Given the description of an element on the screen output the (x, y) to click on. 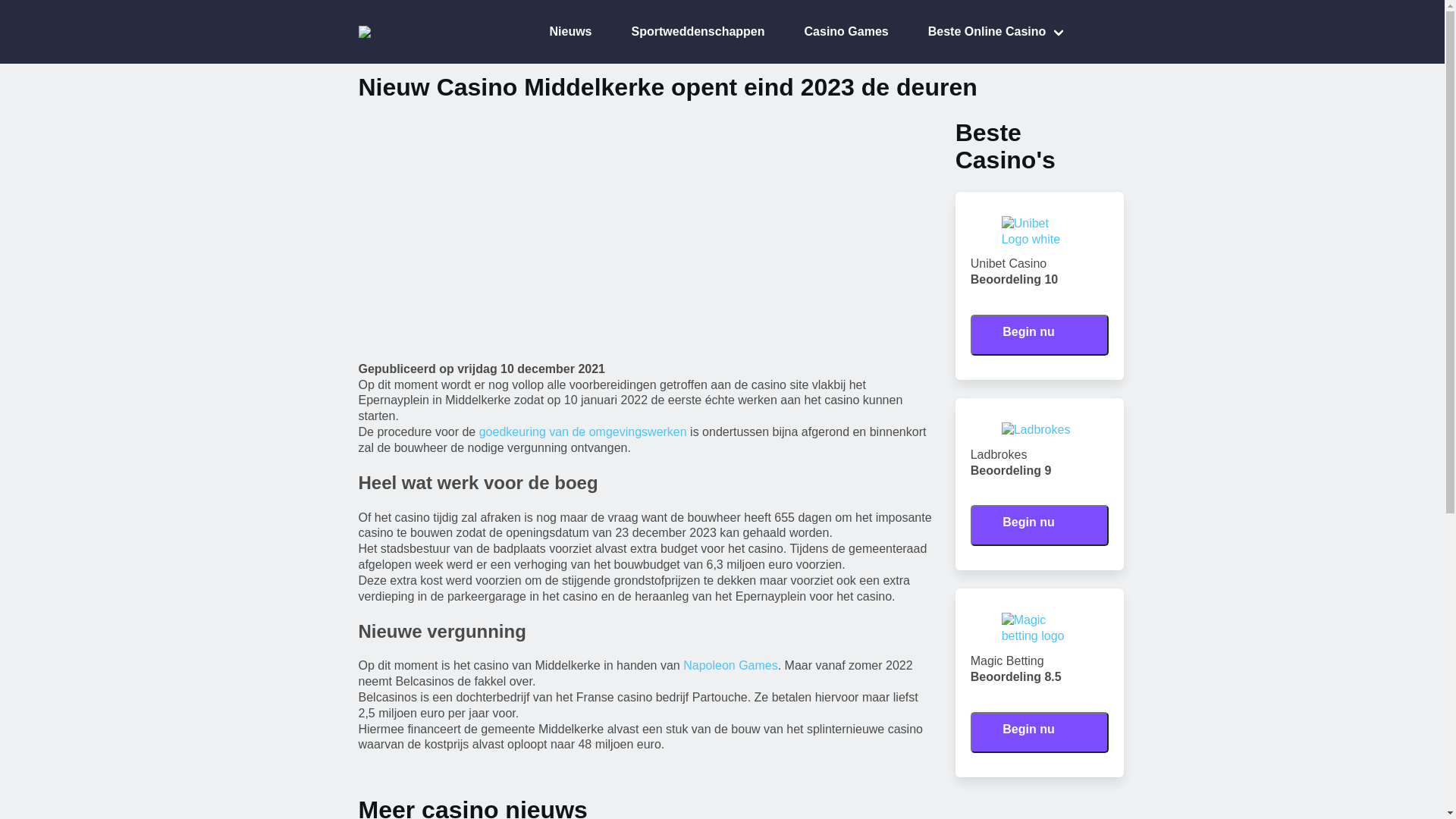
Begin nu Element type: text (1039, 732)
Begin nu Element type: text (1039, 331)
Begin nu Element type: text (1039, 334)
Nieuws Element type: text (559, 31)
Begin nu Element type: text (1039, 521)
Begin nu Element type: text (1039, 728)
Sportweddenschappen Element type: text (687, 31)
Casino Games Element type: text (835, 31)
Begin nu Element type: text (1039, 525)
Napoleon Games Element type: text (730, 664)
Beste Online Casino Element type: text (986, 31)
goedkeuring van de omgevingswerken Element type: text (583, 431)
